Given the description of an element on the screen output the (x, y) to click on. 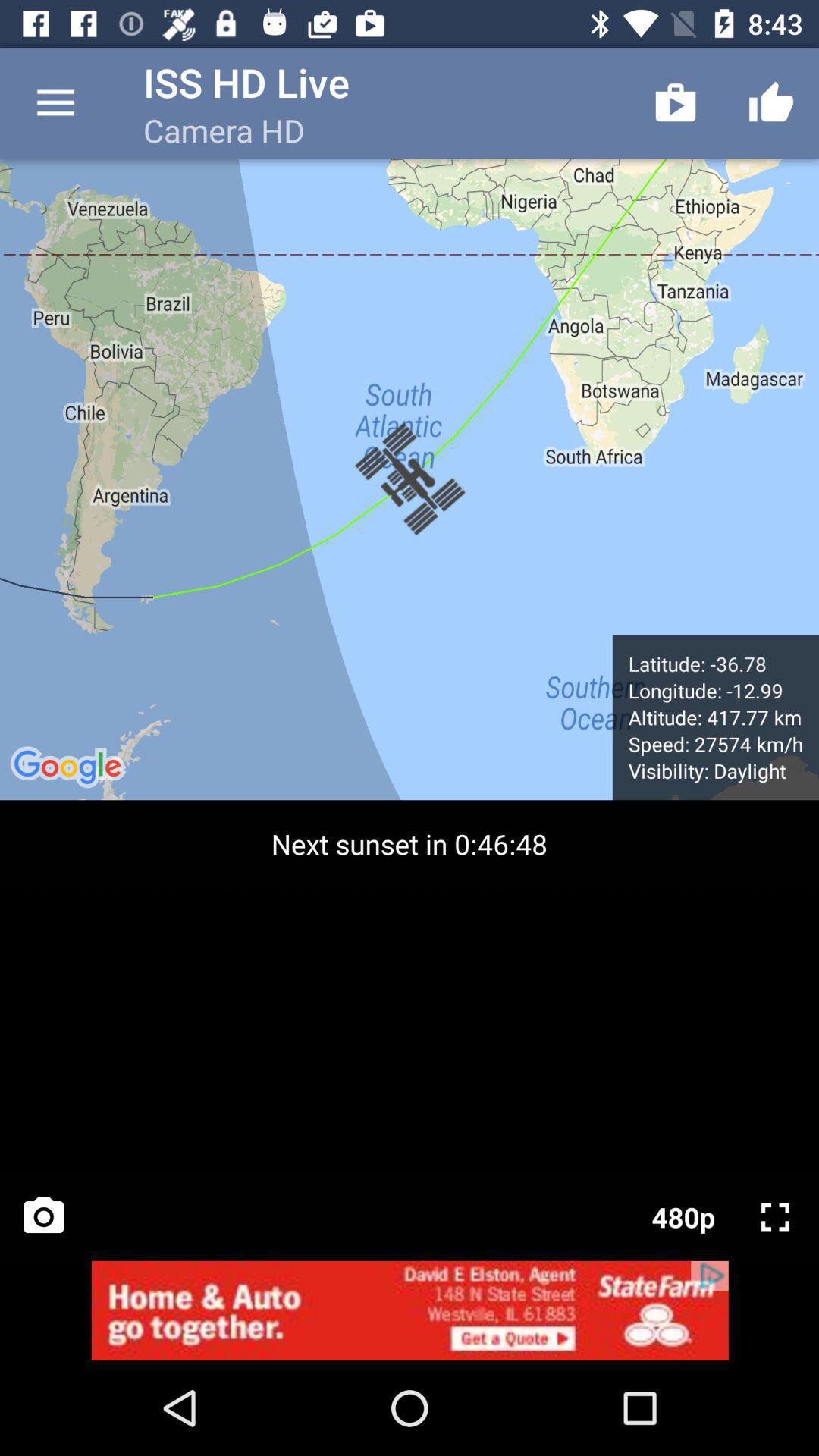
camera selection (43, 1216)
